Given the description of an element on the screen output the (x, y) to click on. 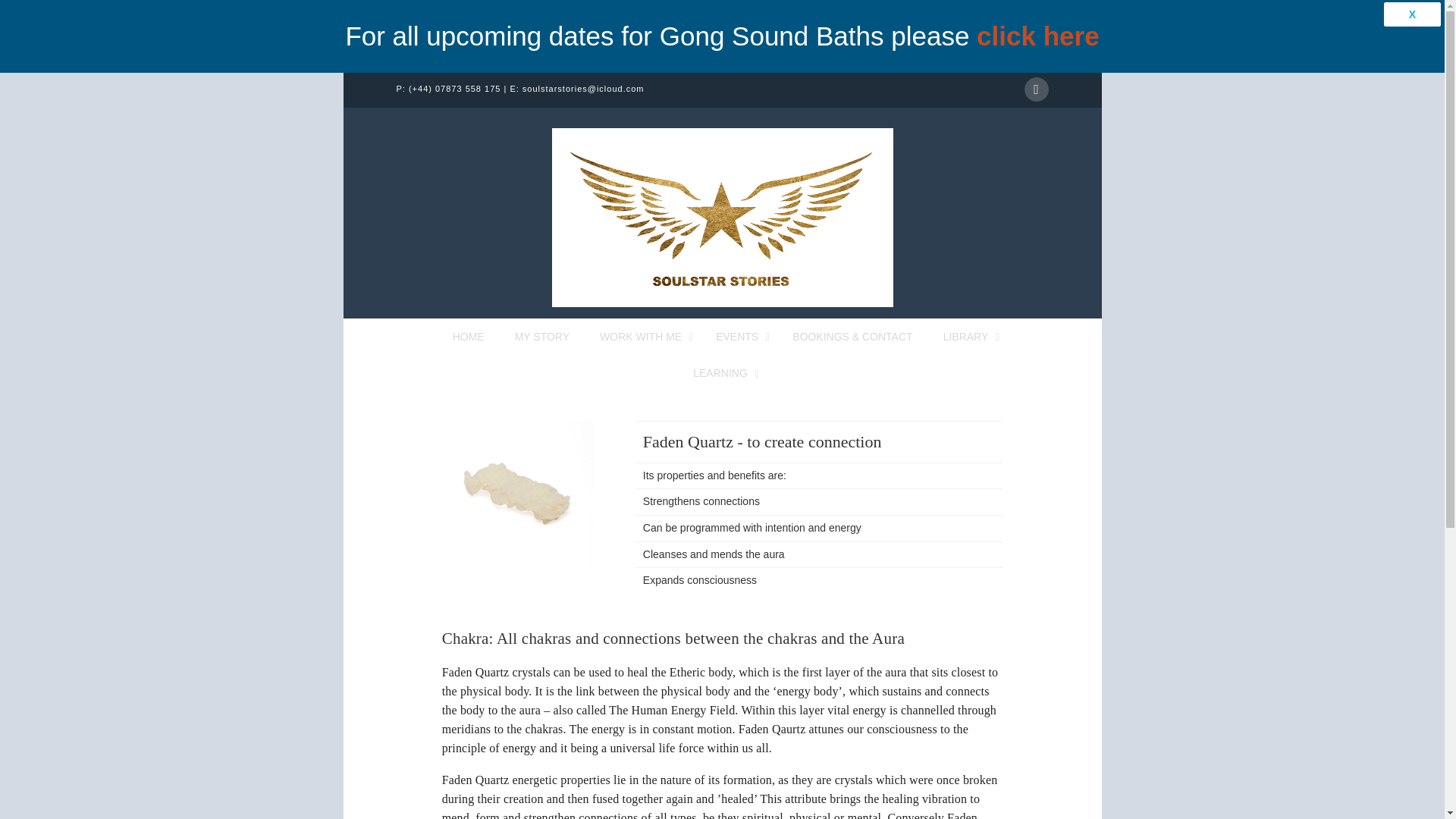
EVENTS (738, 336)
HOME (468, 336)
WORK WITH ME (642, 336)
MY STORY (542, 336)
click here (1037, 35)
Instagram (1035, 88)
LEARNING (722, 372)
LIBRARY (967, 336)
